Given the description of an element on the screen output the (x, y) to click on. 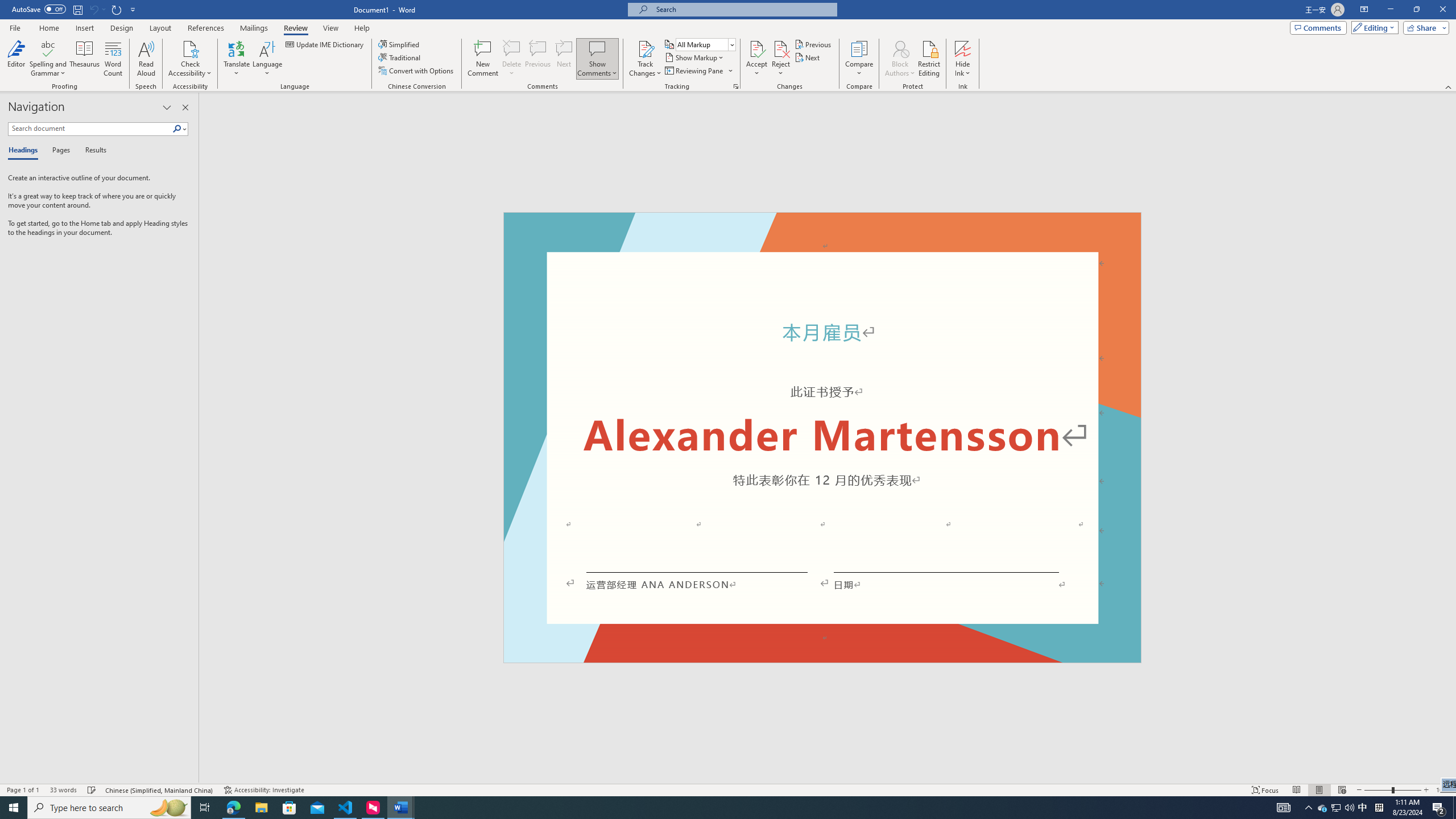
Hide Ink (962, 48)
Accessibility Checker Accessibility: Investigate (263, 790)
Previous (813, 44)
Zoom 100% (1443, 790)
Reviewing Pane (694, 69)
Update IME Dictionary... (324, 44)
